Given the description of an element on the screen output the (x, y) to click on. 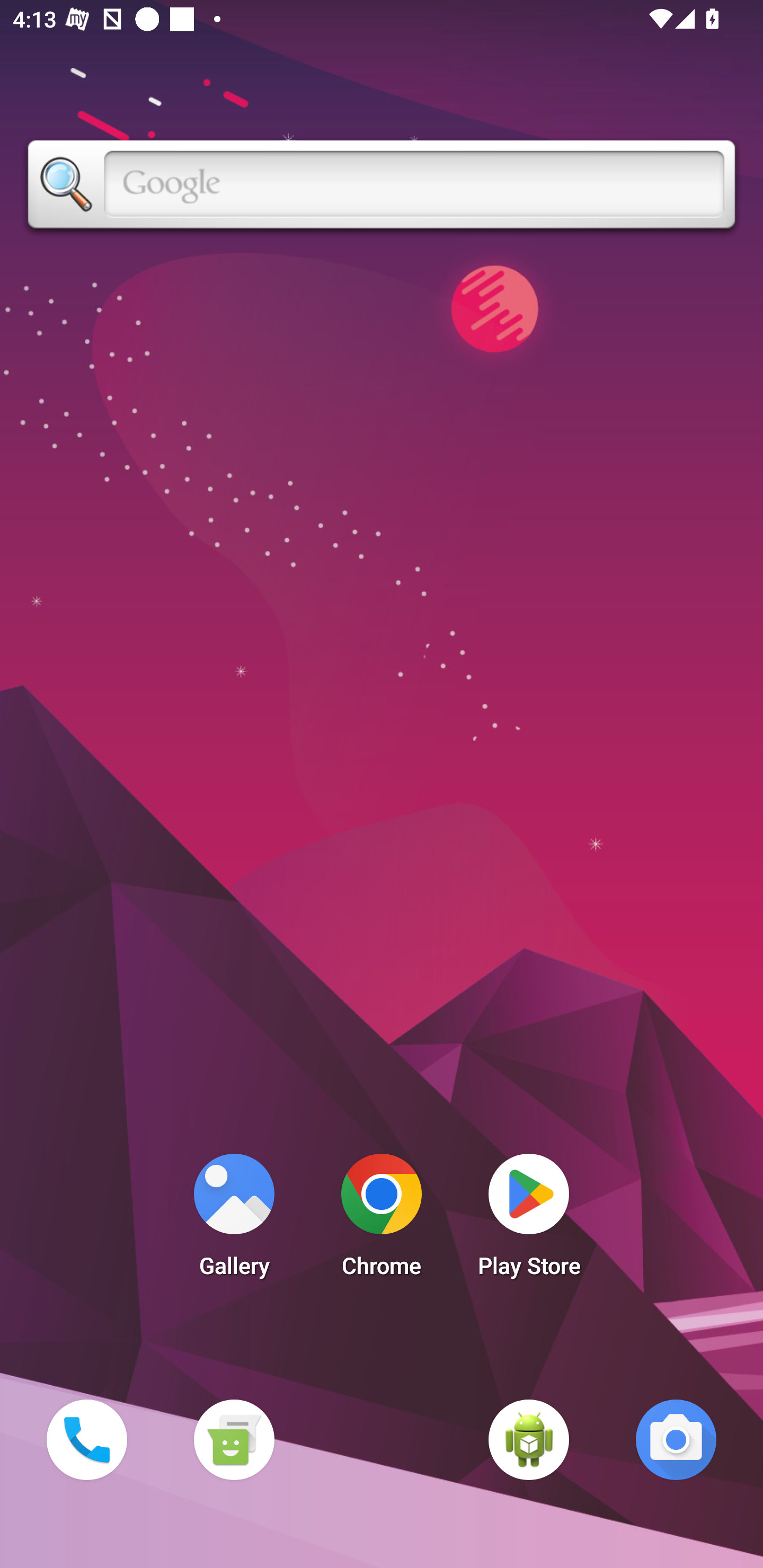
Gallery (233, 1220)
Chrome (381, 1220)
Play Store (528, 1220)
Phone (86, 1439)
Messaging (233, 1439)
WebView Browser Tester (528, 1439)
Camera (676, 1439)
